Given the description of an element on the screen output the (x, y) to click on. 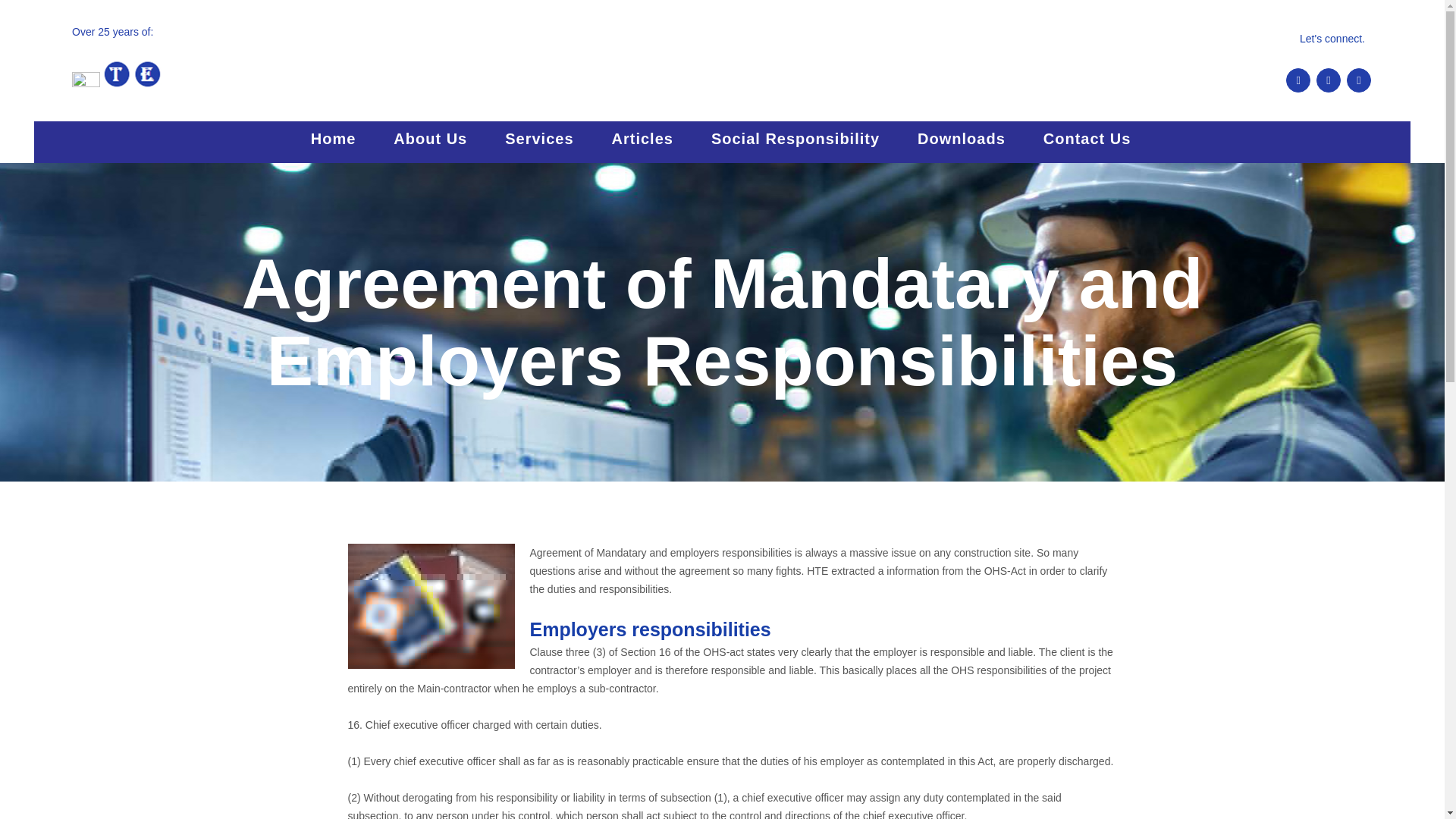
Downloads (961, 138)
About Us (430, 138)
Social Responsibility (795, 138)
Home (333, 138)
Contact Us (1087, 138)
Articles (642, 138)
Services (539, 138)
